Given the description of an element on the screen output the (x, y) to click on. 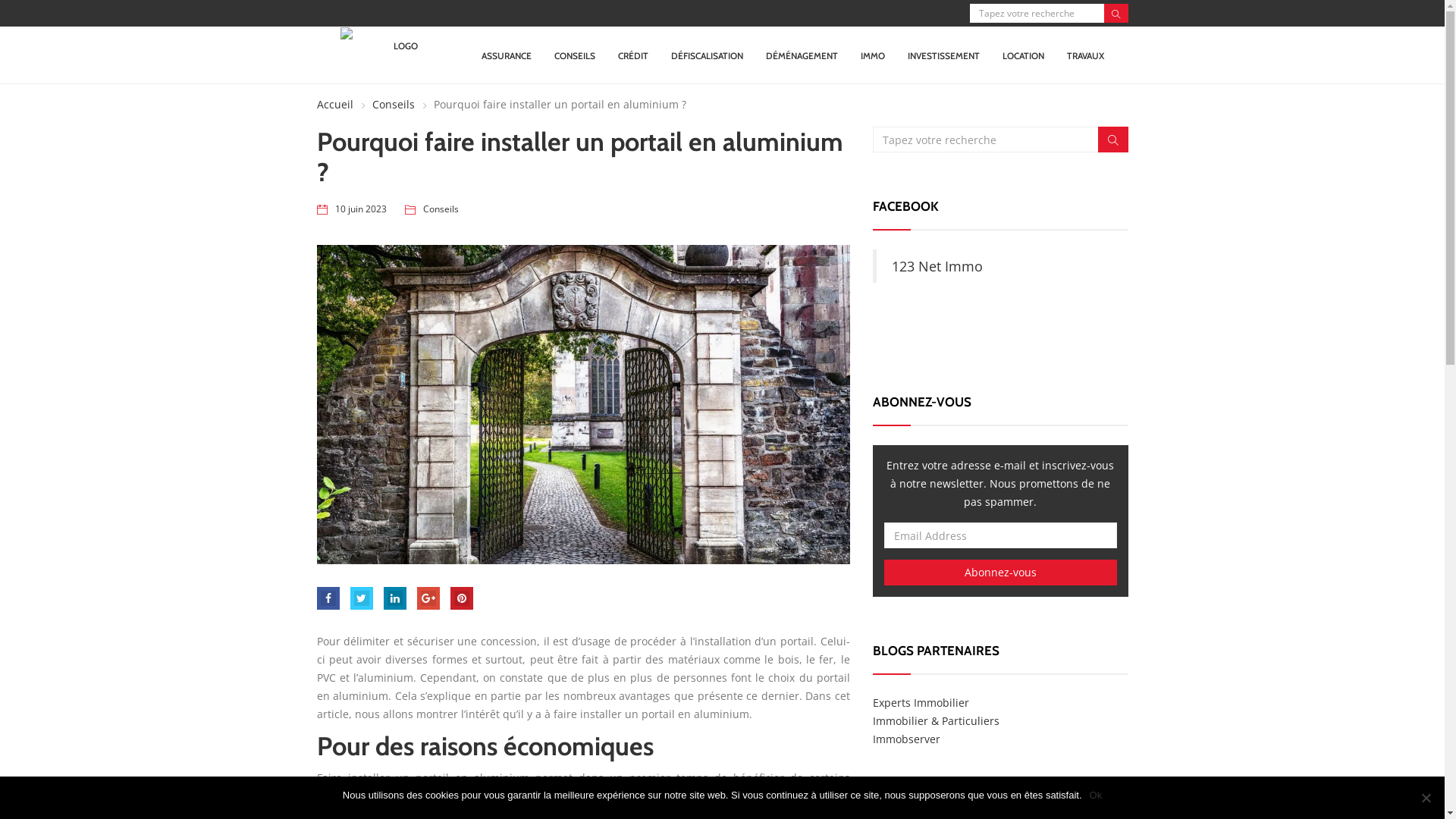
Conseils Element type: text (440, 209)
INVESTISSEMENT Element type: text (943, 56)
Experts Immobilier Element type: text (920, 702)
Click to send this page to Twitter! Element type: hover (361, 597)
Ok Element type: text (1095, 795)
TRAVAUX Element type: text (1085, 56)
IMMO Element type: text (872, 56)
ASSURANCE Element type: text (506, 56)
Immobilier & Particuliers Element type: text (935, 720)
CONSEILS Element type: text (574, 56)
Immobserver Element type: text (906, 738)
LOCATION Element type: text (1023, 56)
10 juin 2023 Element type: text (360, 209)
Non Element type: hover (1425, 797)
Conseils Element type: text (385, 105)
Login Element type: text (729, 426)
123 Net Immo Element type: text (936, 266)
Accueil Element type: text (334, 104)
